Given the description of an element on the screen output the (x, y) to click on. 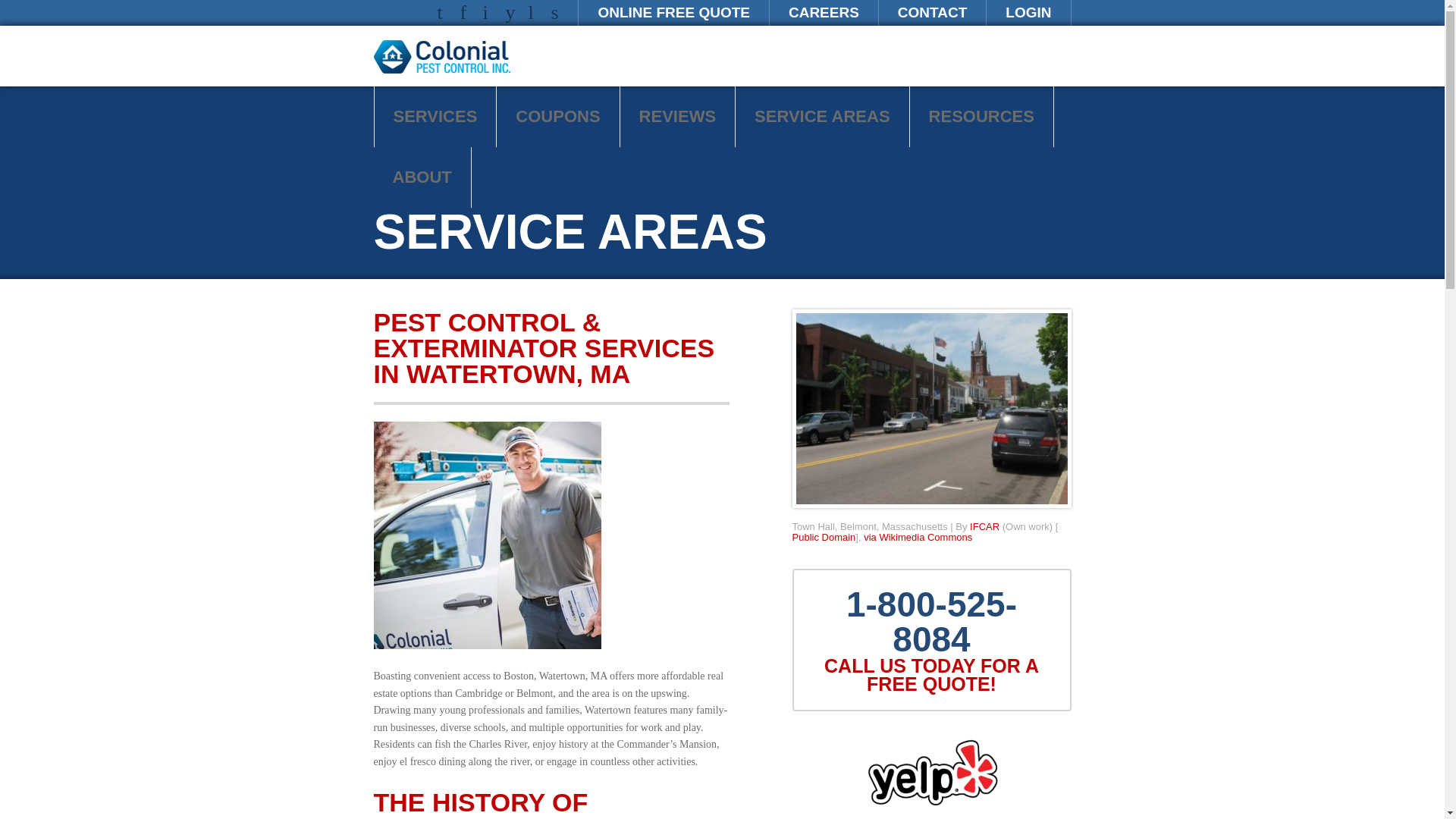
SERVICE AREAS (821, 116)
ONLINE FREE QUOTE (673, 12)
LOGIN (1028, 12)
User:IFCAR (983, 526)
REVIEWS (677, 116)
RESOURCES (981, 116)
CONTACT (932, 12)
CAREERS (823, 12)
SERVICES (435, 116)
COUPONS (557, 116)
